Given the description of an element on the screen output the (x, y) to click on. 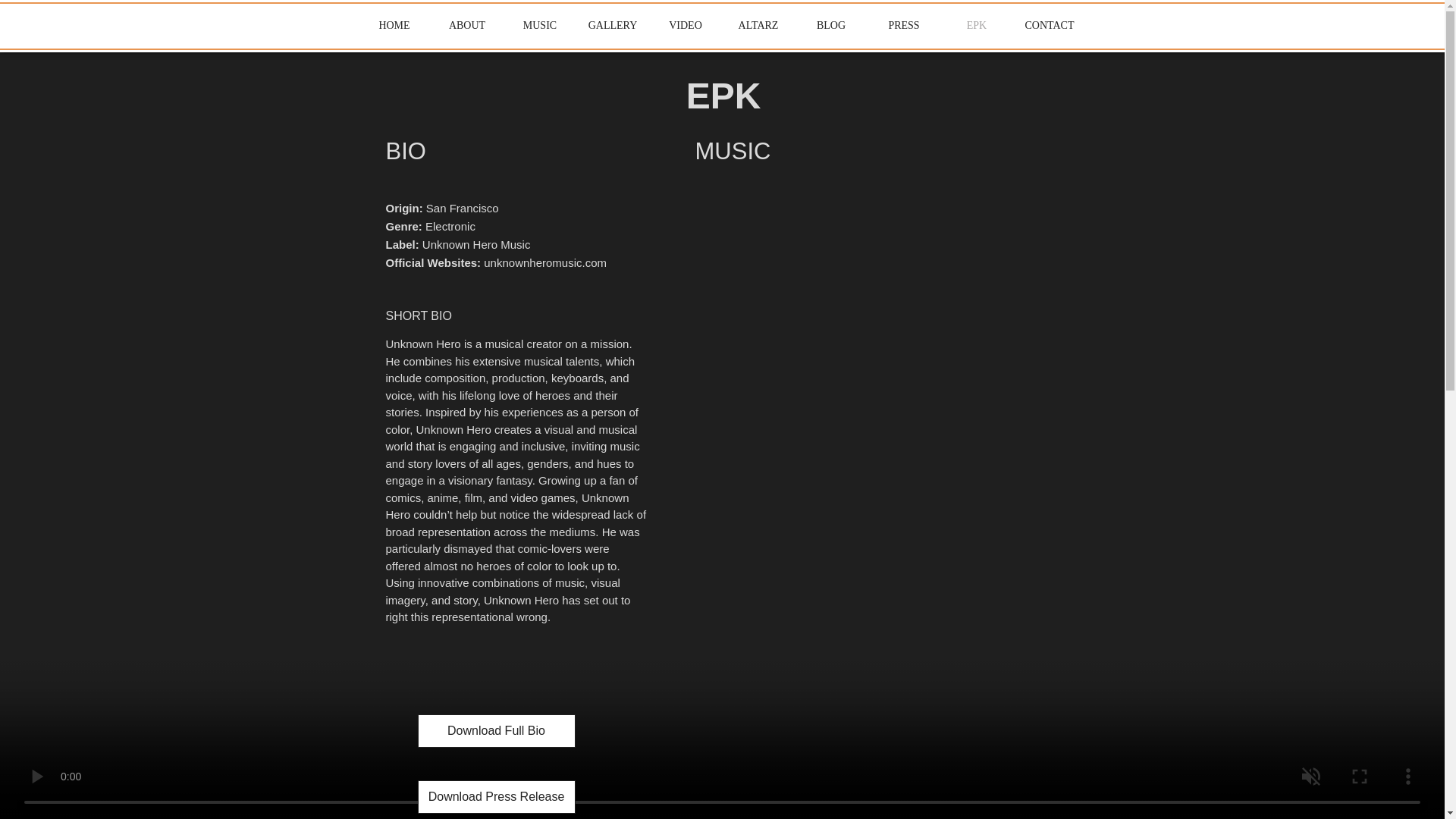
Download Press Release (495, 797)
unknownheromusic.com (545, 262)
VIDEO (685, 25)
ALTARZ (758, 25)
BLOG (830, 25)
HOME (394, 25)
EPK (976, 25)
CONTACT (1049, 25)
MUSIC (539, 25)
ABOUT (466, 25)
Download Full Bio (495, 730)
GALLERY (612, 25)
PRESS (903, 25)
